Given the description of an element on the screen output the (x, y) to click on. 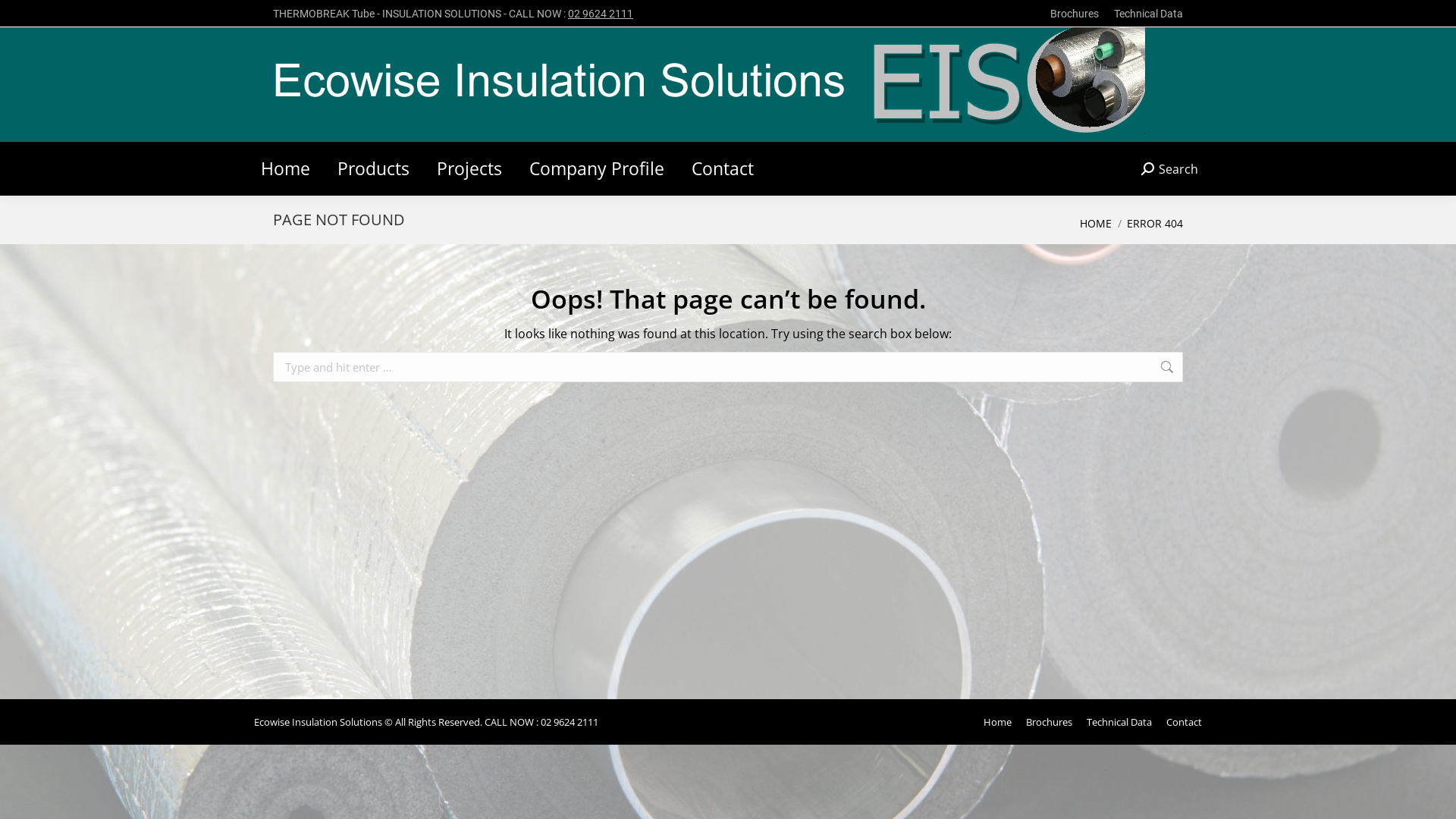
Company Profile Element type: text (596, 168)
Brochures Element type: text (1049, 721)
Search Element type: text (1169, 167)
02 9624 2111 Element type: text (569, 721)
Products Element type: text (373, 168)
Go! Element type: text (24, 16)
Brochures Element type: text (1074, 13)
Technical Data Element type: text (1148, 13)
02 9624 2111 Element type: text (600, 13)
Contact Element type: text (1183, 721)
Go! Element type: text (1207, 368)
Home Element type: text (997, 721)
HOME Element type: text (1095, 223)
Projects Element type: text (469, 168)
Home Element type: text (285, 168)
Technical Data Element type: text (1118, 721)
Contact Element type: text (722, 168)
